Given the description of an element on the screen output the (x, y) to click on. 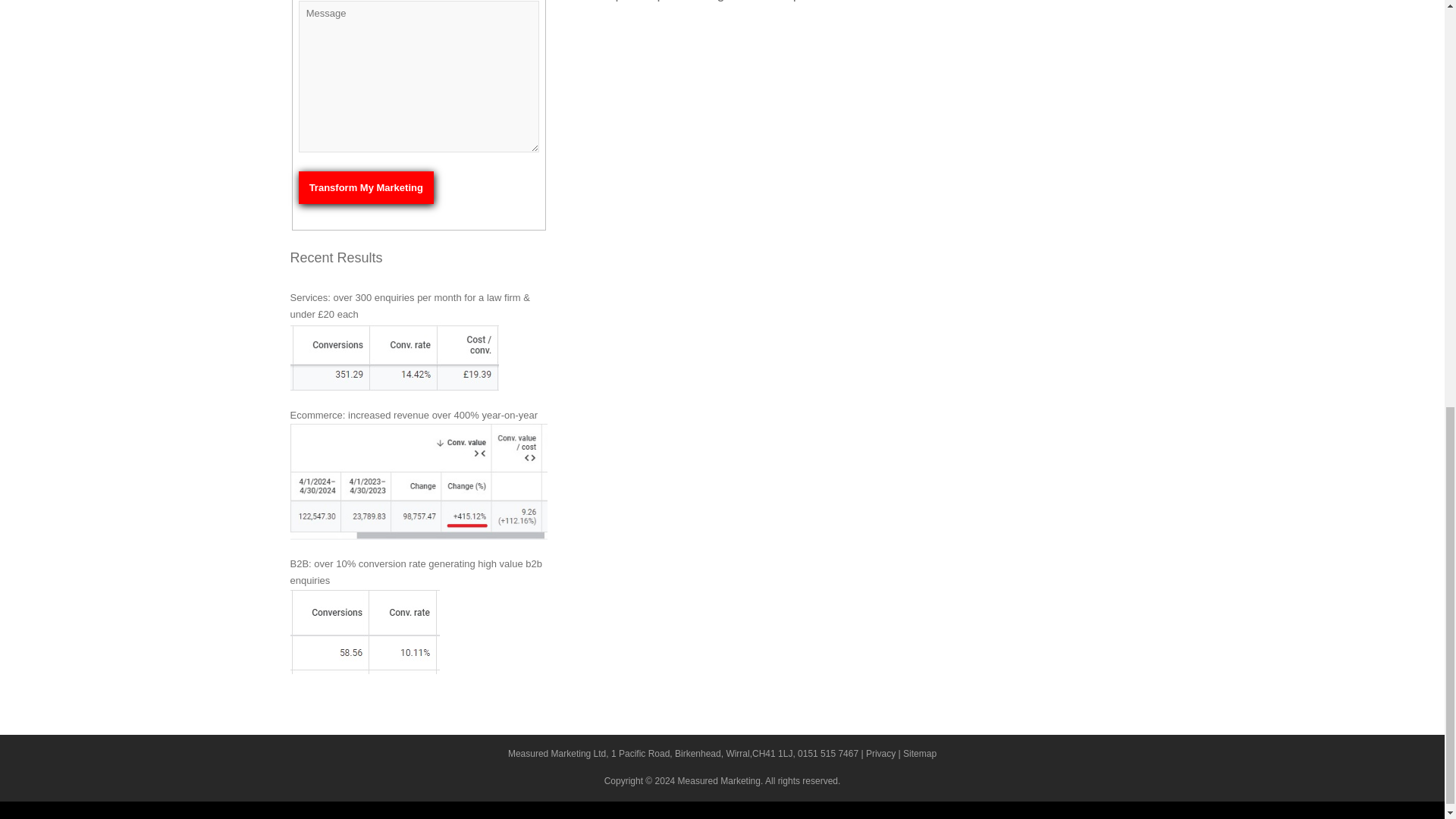
Transform My Marketing (365, 187)
